Given the description of an element on the screen output the (x, y) to click on. 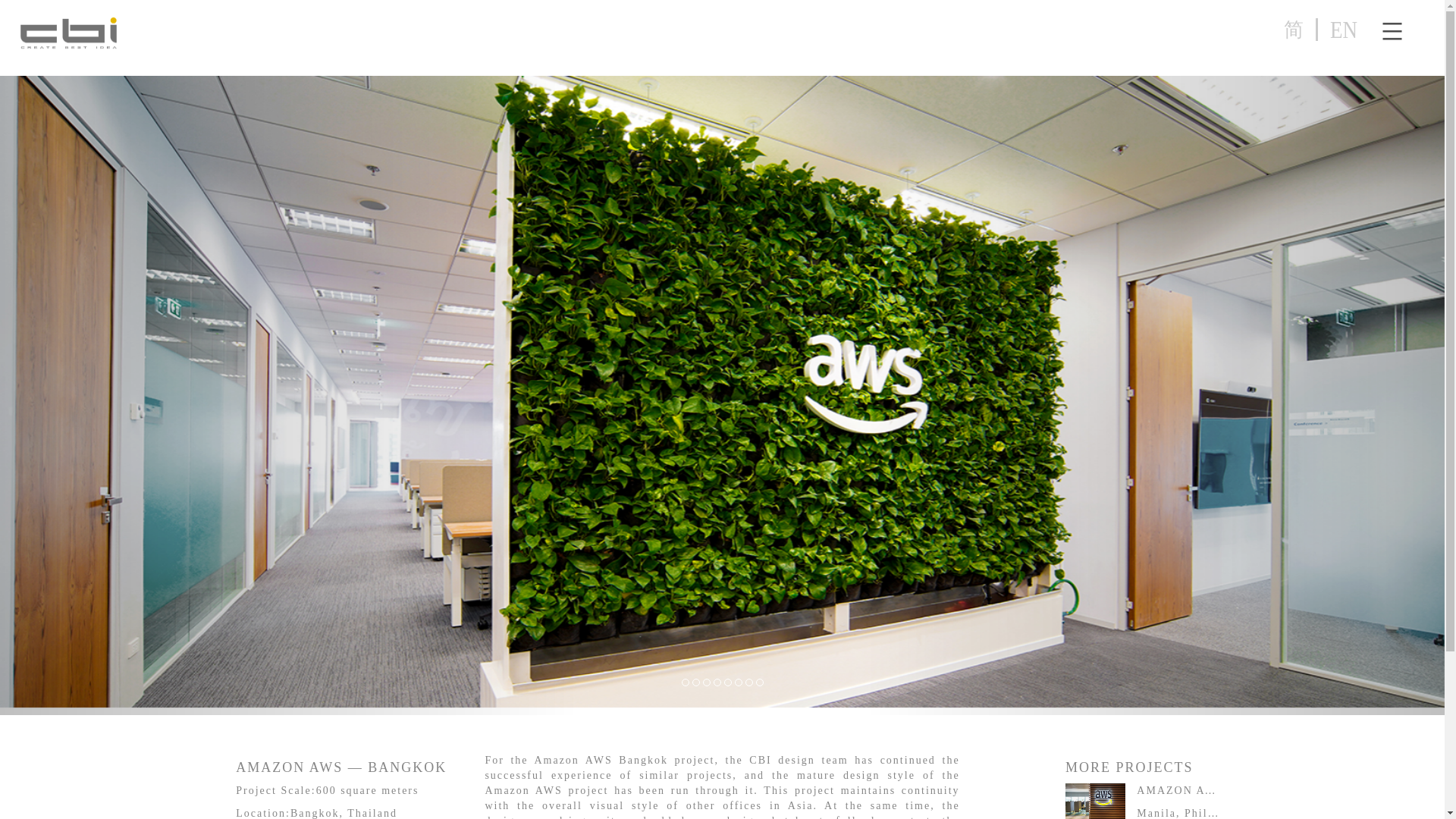
MORE PROJECTS (1136, 767)
